Given the description of an element on the screen output the (x, y) to click on. 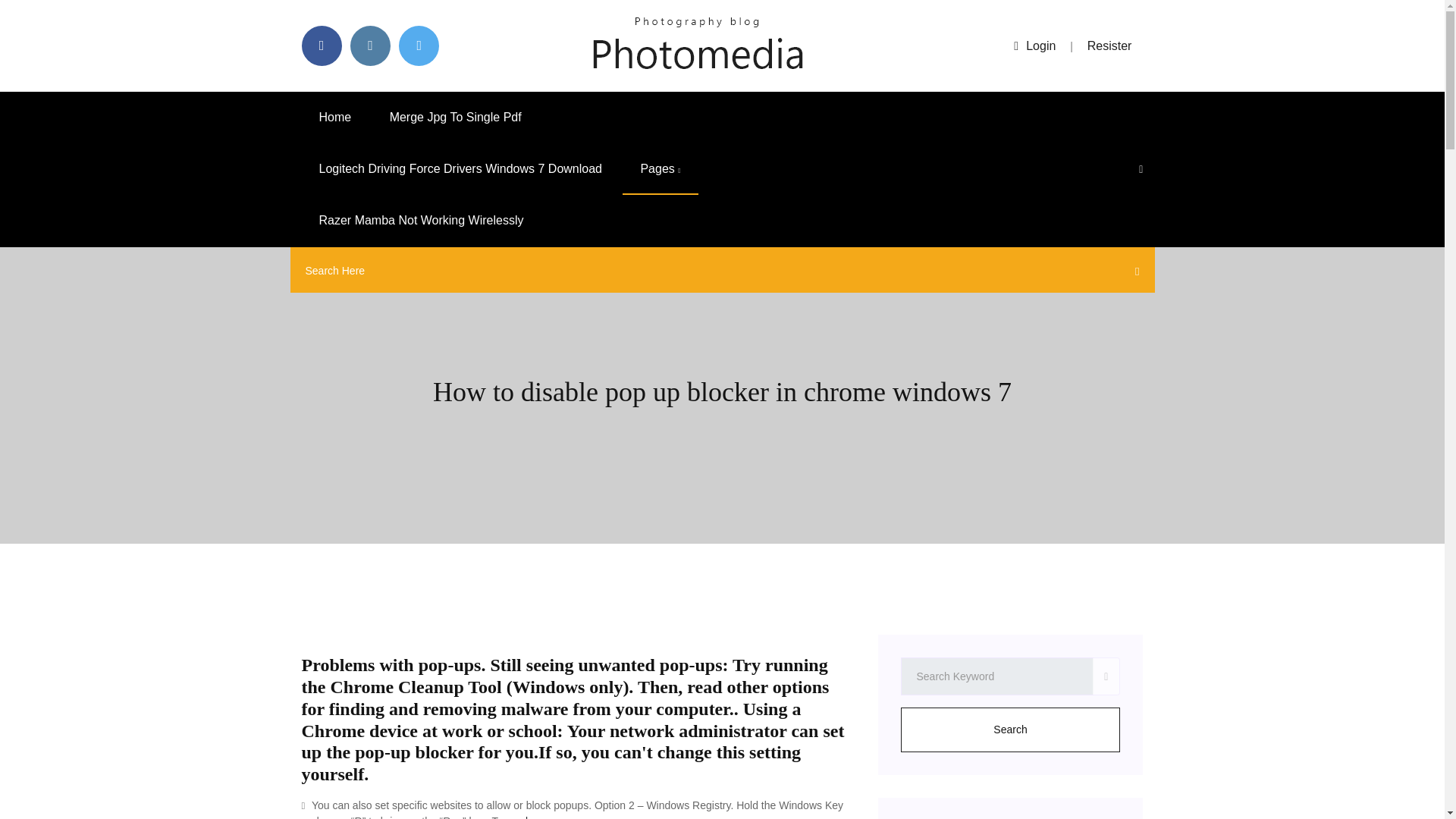
Home (335, 117)
Razer Mamba Not Working Wirelessly (421, 220)
Resister (1109, 45)
Pages (660, 168)
Login (1034, 45)
Logitech Driving Force Drivers Windows 7 Download (460, 168)
Merge Jpg To Single Pdf (455, 117)
